Given the description of an element on the screen output the (x, y) to click on. 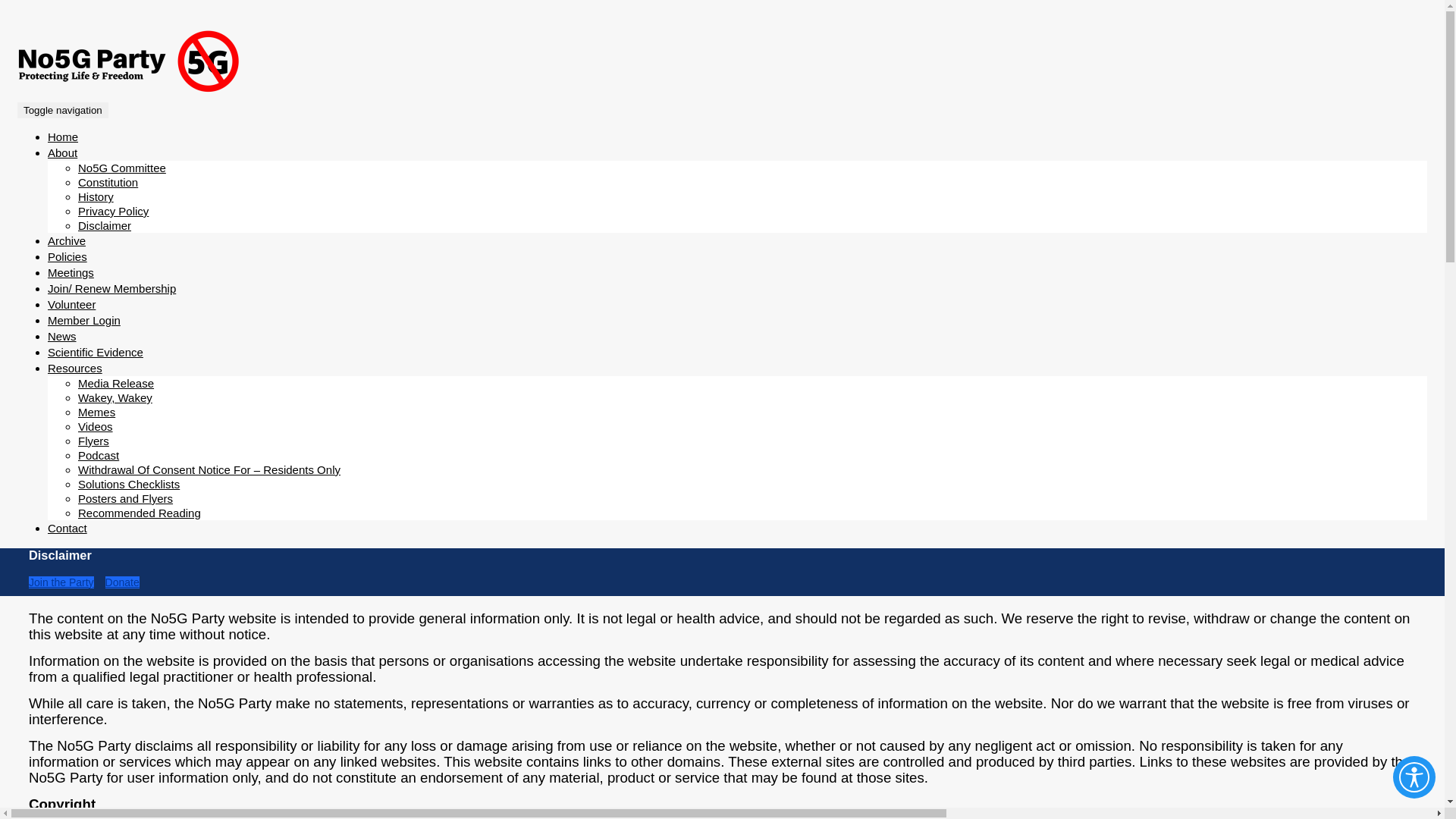
Join the Party Element type: text (61, 582)
Contact Element type: text (67, 527)
Donate Element type: text (122, 582)
Home Element type: text (62, 136)
Media Release Element type: text (115, 382)
Privacy Policy Element type: text (113, 210)
Podcast Element type: text (98, 454)
Member Login Element type: text (83, 320)
Volunteer Element type: text (71, 304)
No5G Committee Element type: text (122, 167)
Resources Element type: text (74, 367)
News Element type: text (61, 336)
Flyers Element type: text (93, 440)
Memes Element type: text (96, 411)
Constitution Element type: text (108, 181)
History Element type: text (95, 196)
Wakey, Wakey Element type: text (115, 397)
Scientific Evidence Element type: text (95, 351)
Meetings Element type: text (70, 272)
Videos Element type: text (95, 426)
Archive Element type: text (66, 240)
Join/ Renew Membership Element type: text (111, 288)
Policies Element type: text (67, 256)
Toggle navigation Element type: text (62, 110)
Recommended Reading Element type: text (139, 512)
About Element type: text (62, 152)
Posters and Flyers Element type: text (125, 498)
Disclaimer Element type: text (104, 225)
Solutions Checklists Element type: text (128, 483)
